Given the description of an element on the screen output the (x, y) to click on. 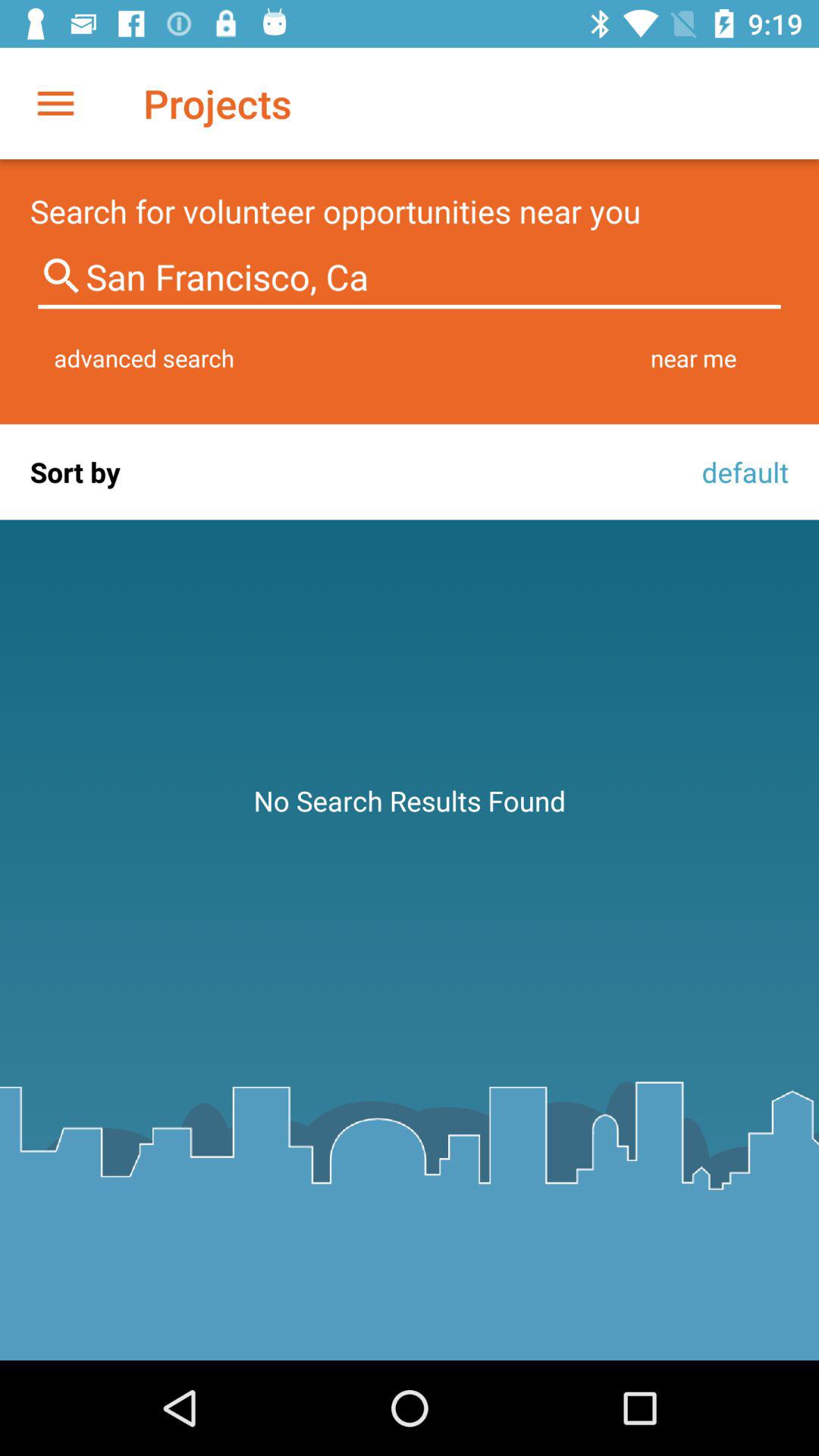
launch icon above the no search results icon (740, 471)
